Given the description of an element on the screen output the (x, y) to click on. 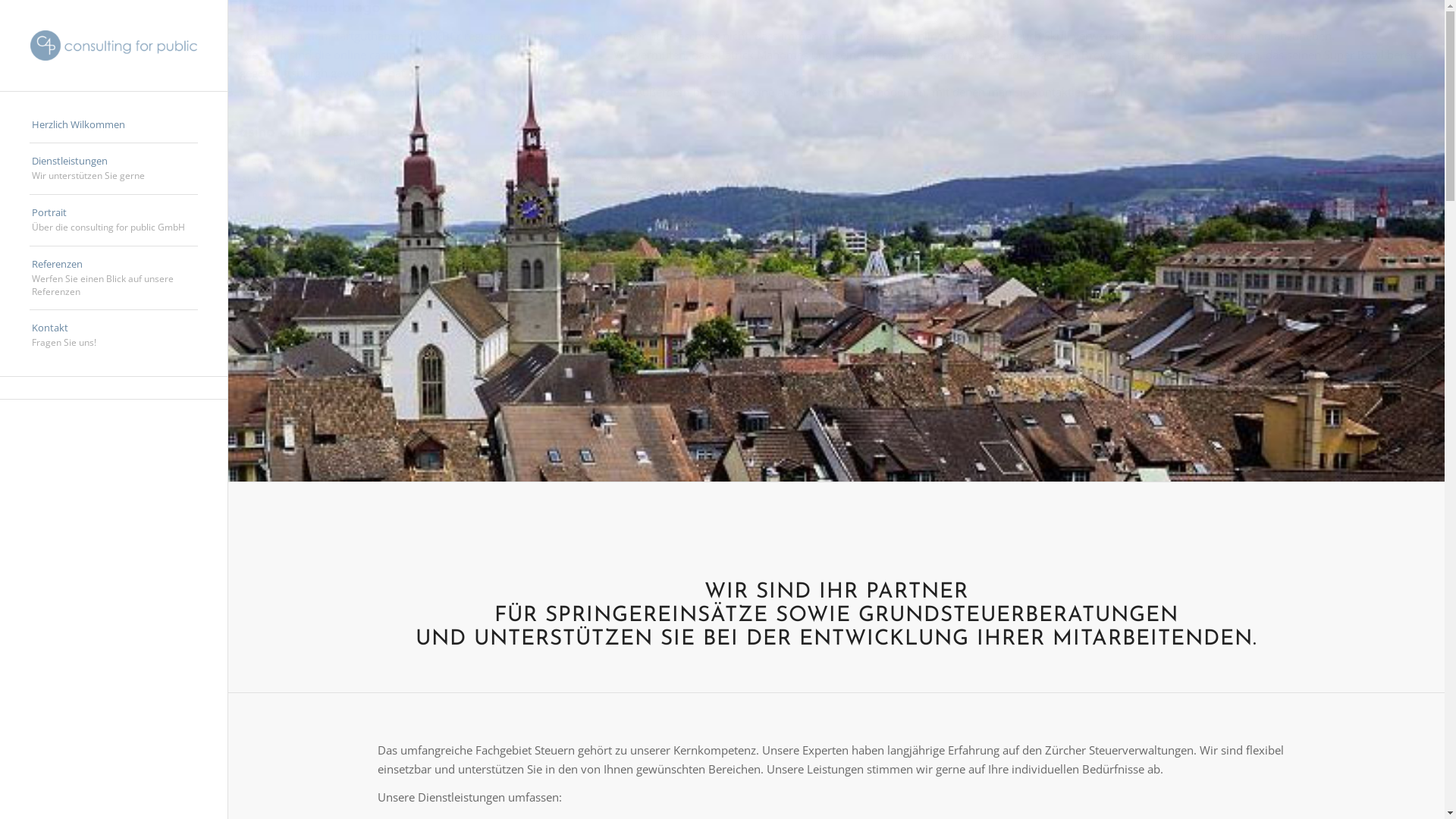
Herzlich Wilkommen Element type: text (113, 124)
schweizisch roulette oder casino 2023 Element type: text (327, 377)
%D1%81asino in schweiz blackjack bonus bei anmeldung gratis Element type: text (393, 196)
wie kann man 2023 im casino gewinnen Element type: text (333, 339)
gemeinde-springer Element type: hover (836, 240)
online casino ohne echtgeld in der schweiz 2023 Element type: text (354, 302)
Kontakt
Fragen Sie uns! Element type: text (113, 335)
Referenzen
Werfen Sie einen Blick auf unsere Referenzen Element type: text (113, 278)
